Given the description of an element on the screen output the (x, y) to click on. 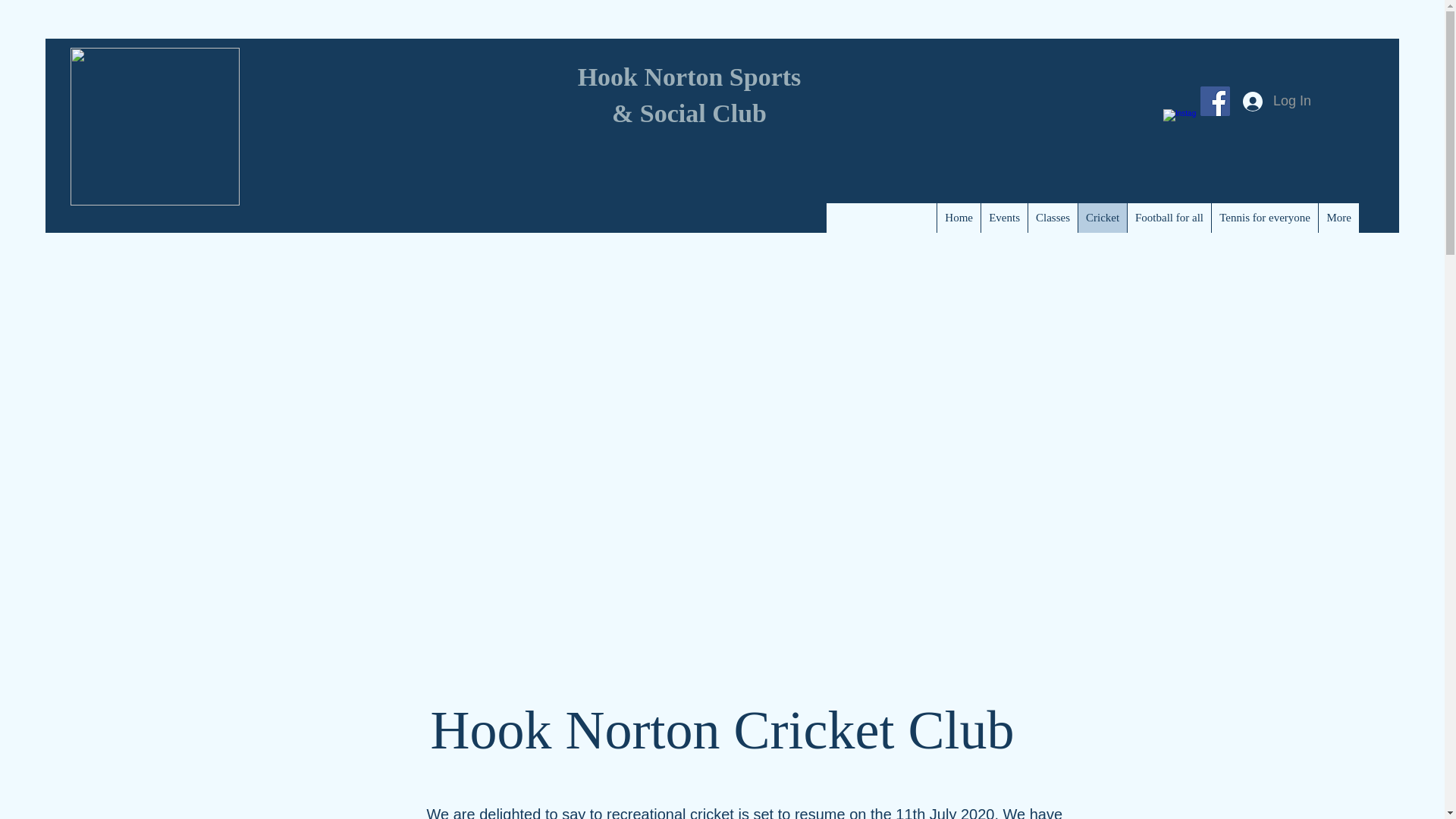
Cricket (1101, 217)
Football for all (1168, 217)
Log In (1276, 101)
Tennis for everyone (1264, 217)
Events (1003, 217)
Home (957, 217)
Classes (1052, 217)
